Given the description of an element on the screen output the (x, y) to click on. 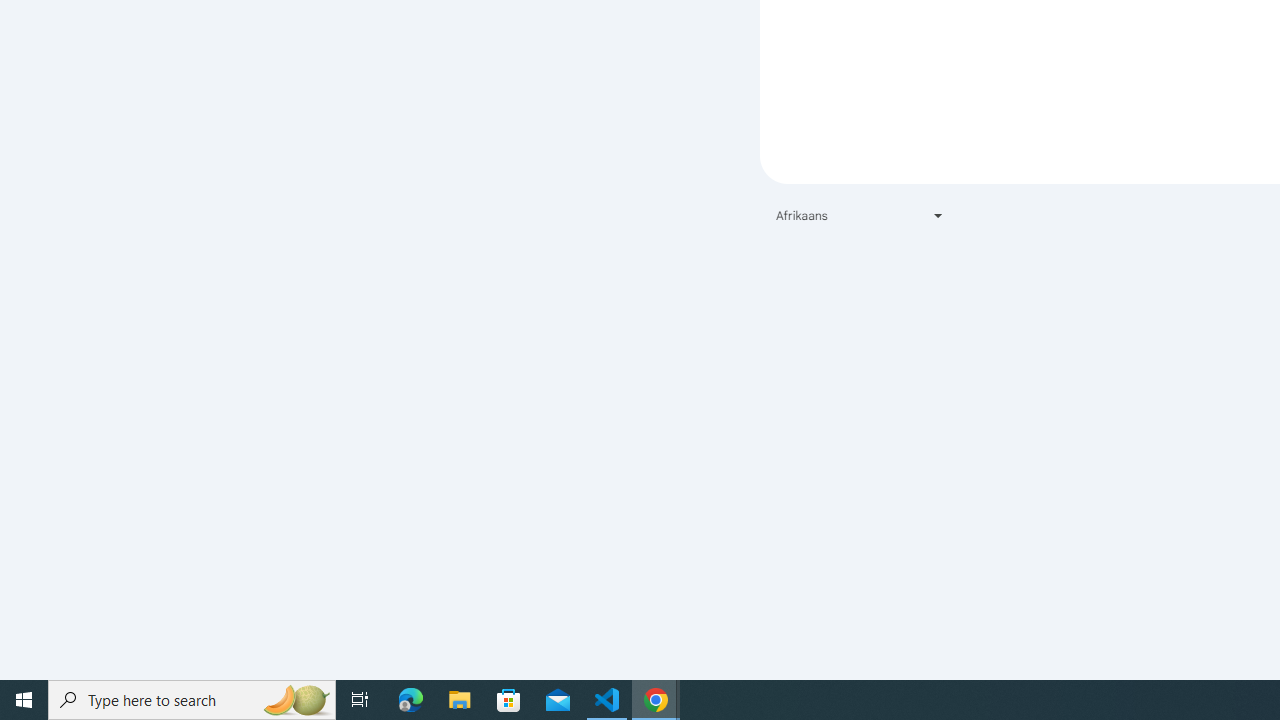
Start (24, 699)
Type here to search (191, 699)
Google Chrome - 2 running windows (656, 699)
Task View (359, 699)
File Explorer (460, 699)
Microsoft Store (509, 699)
Search highlights icon opens search home window (295, 699)
Microsoft Edge (411, 699)
Visual Studio Code - 1 running window (607, 699)
